Given the description of an element on the screen output the (x, y) to click on. 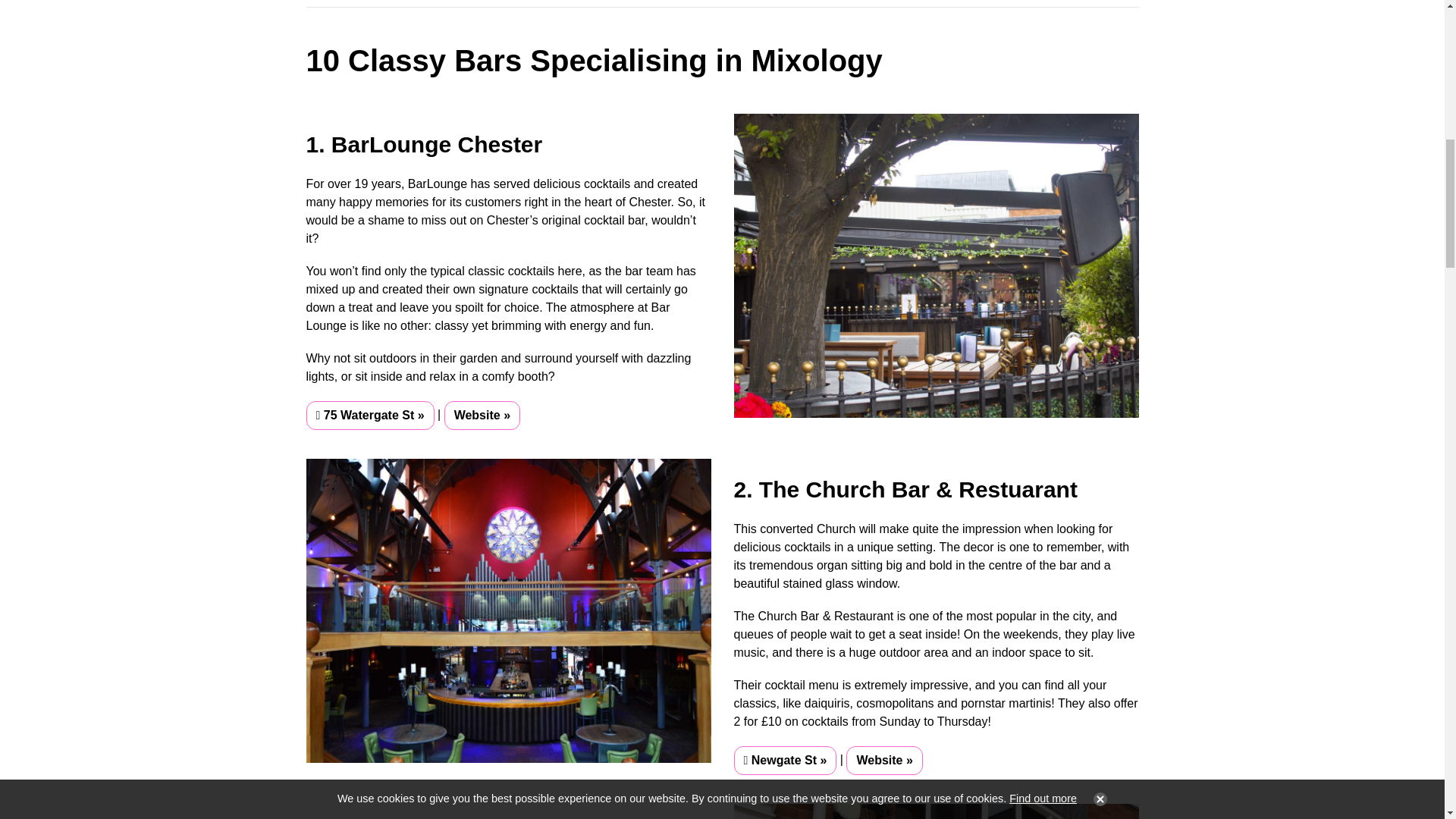
Church - Cocktail Bars in Chester (508, 610)
BarLounge Chester (481, 415)
Kuckoo - Cocktail Bars in Chester (935, 811)
View in Google Maps (369, 415)
Church Chester (883, 760)
View in Google Maps (785, 760)
Bar Lounge - Cocktail Bars in Chester (935, 265)
